Given the description of an element on the screen output the (x, y) to click on. 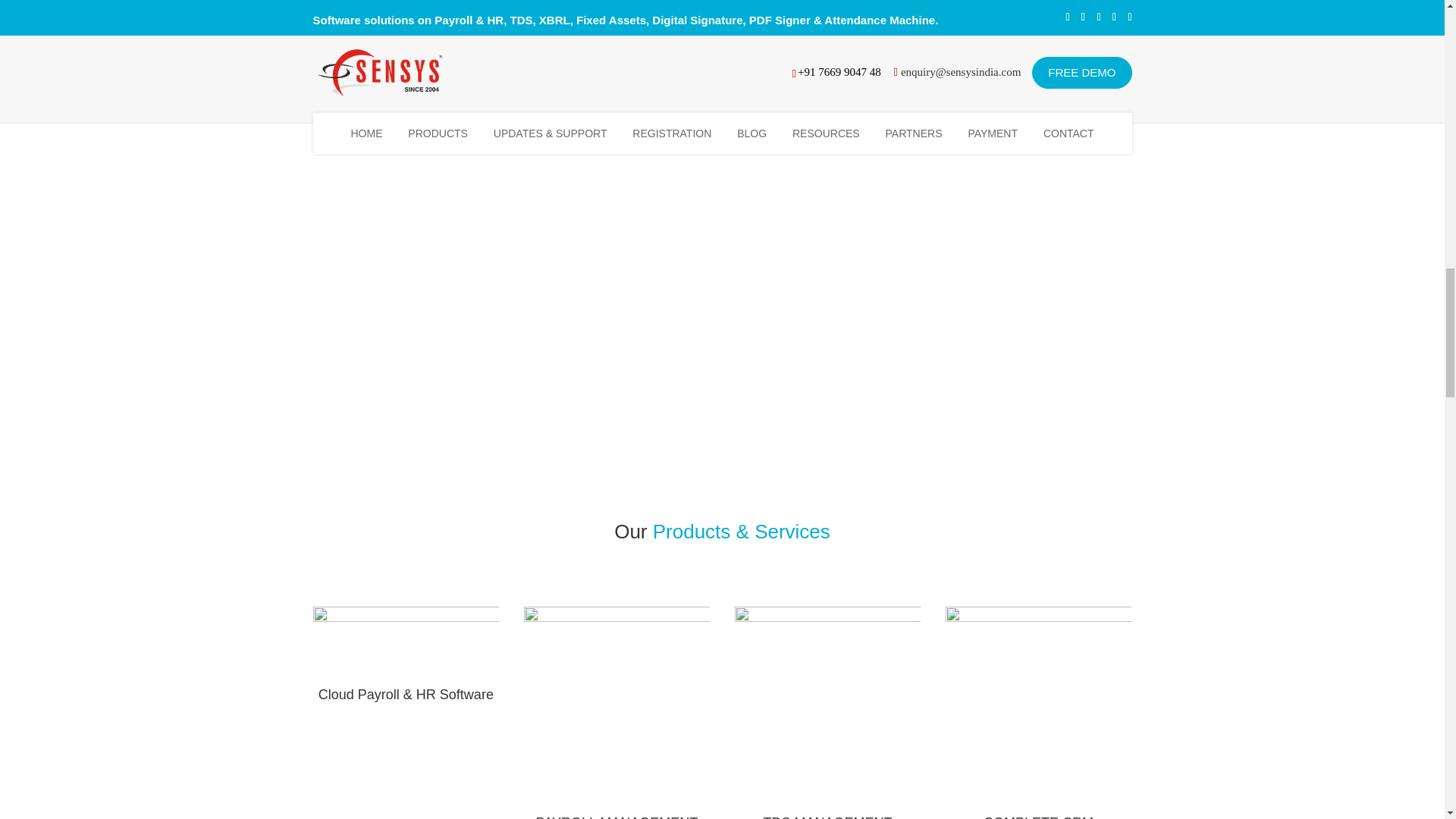
TDS MANAGEMENT SOFTWARE (826, 816)
PAYROLL MANAGEMENT SOFTWARE (616, 816)
COMPLETE CRM SOFTWARE (1038, 816)
